Given the description of an element on the screen output the (x, y) to click on. 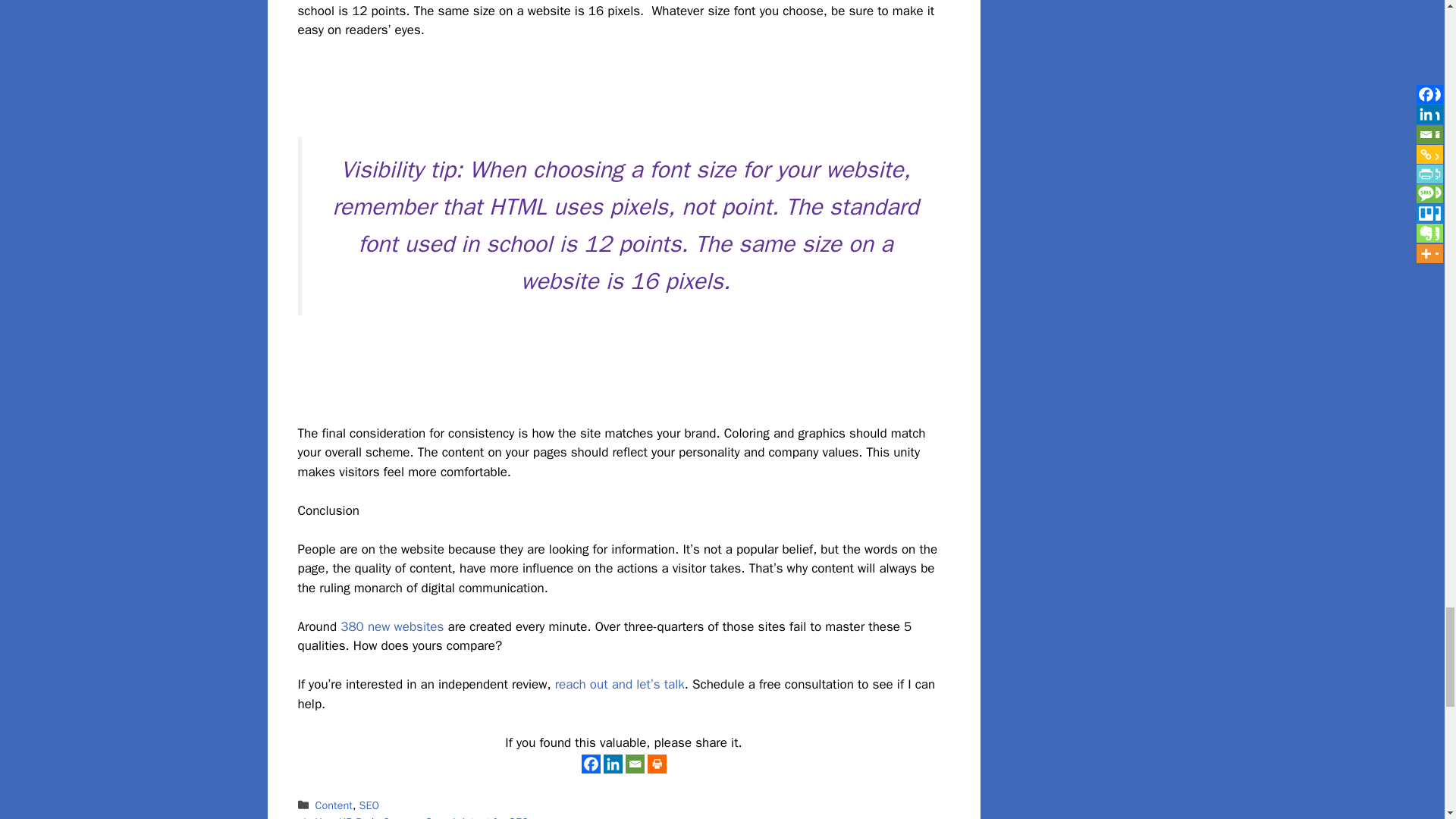
Content (333, 805)
Email (633, 763)
Print (656, 763)
380 new websites (392, 626)
Facebook (589, 763)
Linkedin (613, 763)
SEO (369, 805)
